Given the description of an element on the screen output the (x, y) to click on. 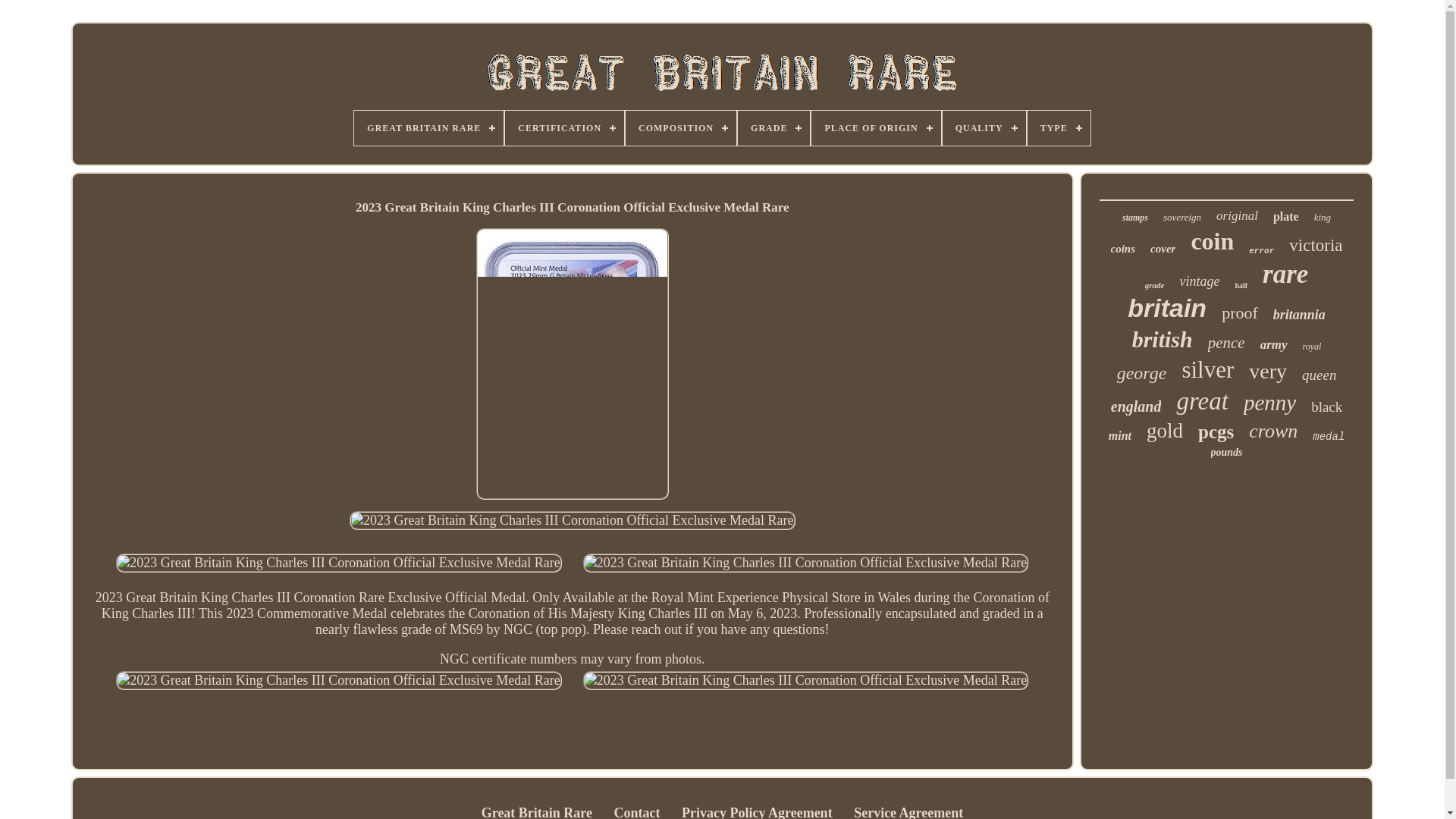
CERTIFICATION (564, 127)
COMPOSITION (681, 127)
GREAT BRITAIN RARE (428, 127)
